Given the description of an element on the screen output the (x, y) to click on. 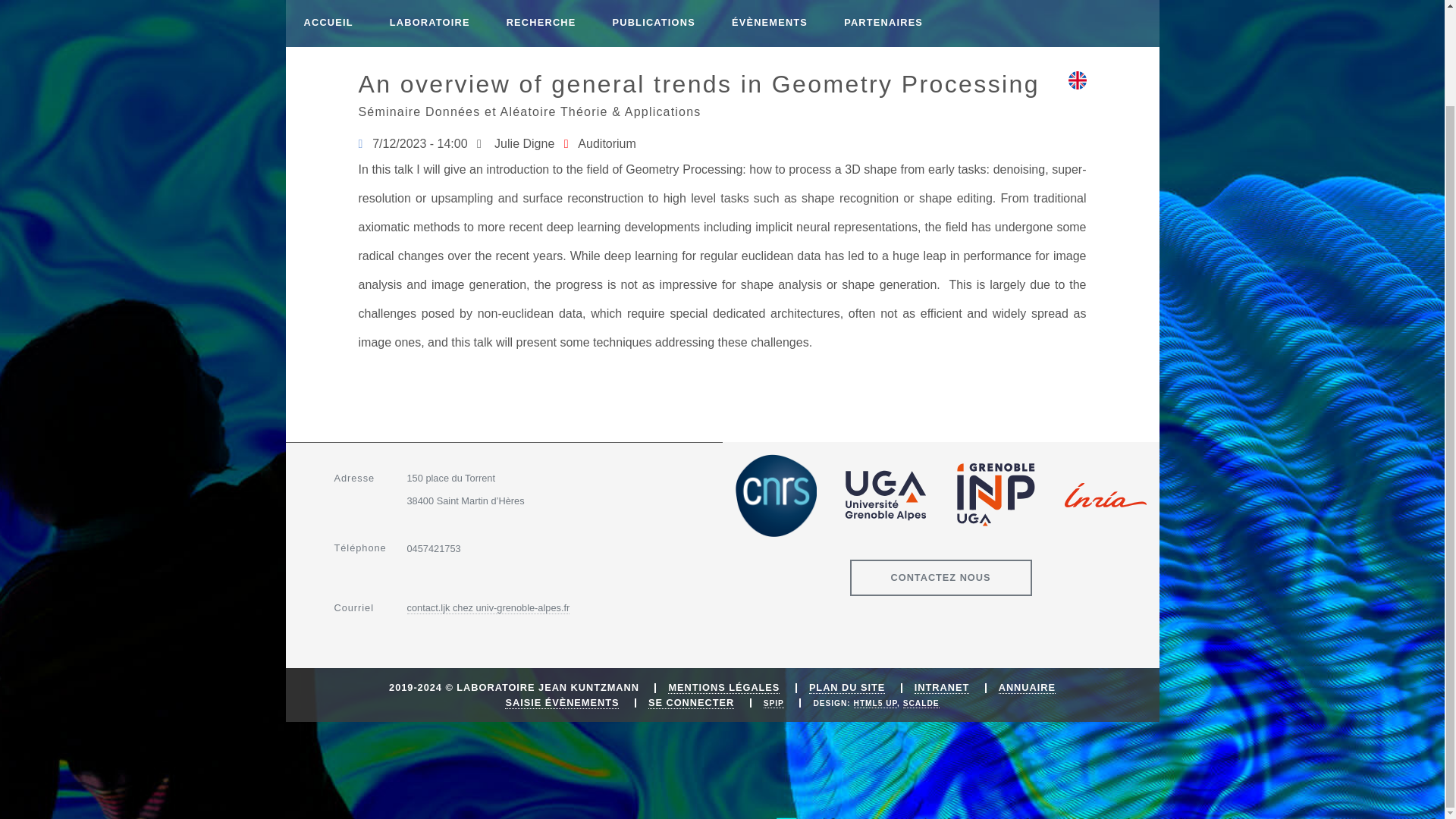
LABORATOIRE (429, 23)
ANNUAIRE (1026, 687)
SE CONNECTER (690, 702)
PLAN DU SITE (847, 687)
INRIA (1105, 494)
PUBLICATIONS (653, 23)
contact.ljk chez univ-grenoble-alpes.fr (487, 607)
Grenoble INP (995, 494)
ACCUEIL (328, 23)
PARTENAIRES (882, 23)
RECHERCHE (540, 23)
CONTACTEZ NOUS (939, 577)
CNRS (774, 495)
INTRANET (941, 687)
